Given the description of an element on the screen output the (x, y) to click on. 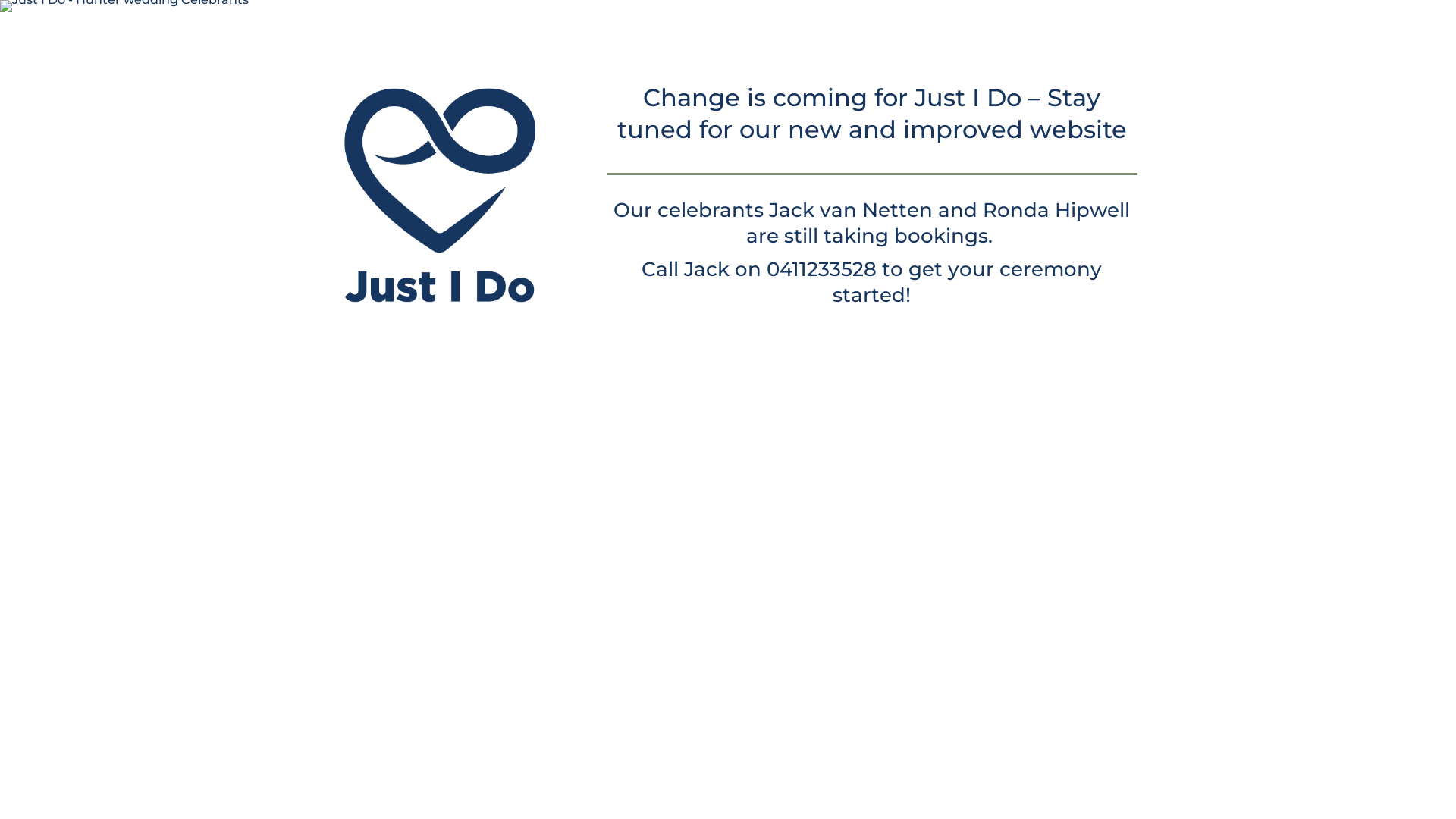
Just I Do - Hunter wedding Celebrants Element type: hover (124, 6)
just-i-do-logo-1 Element type: hover (439, 198)
